Given the description of an element on the screen output the (x, y) to click on. 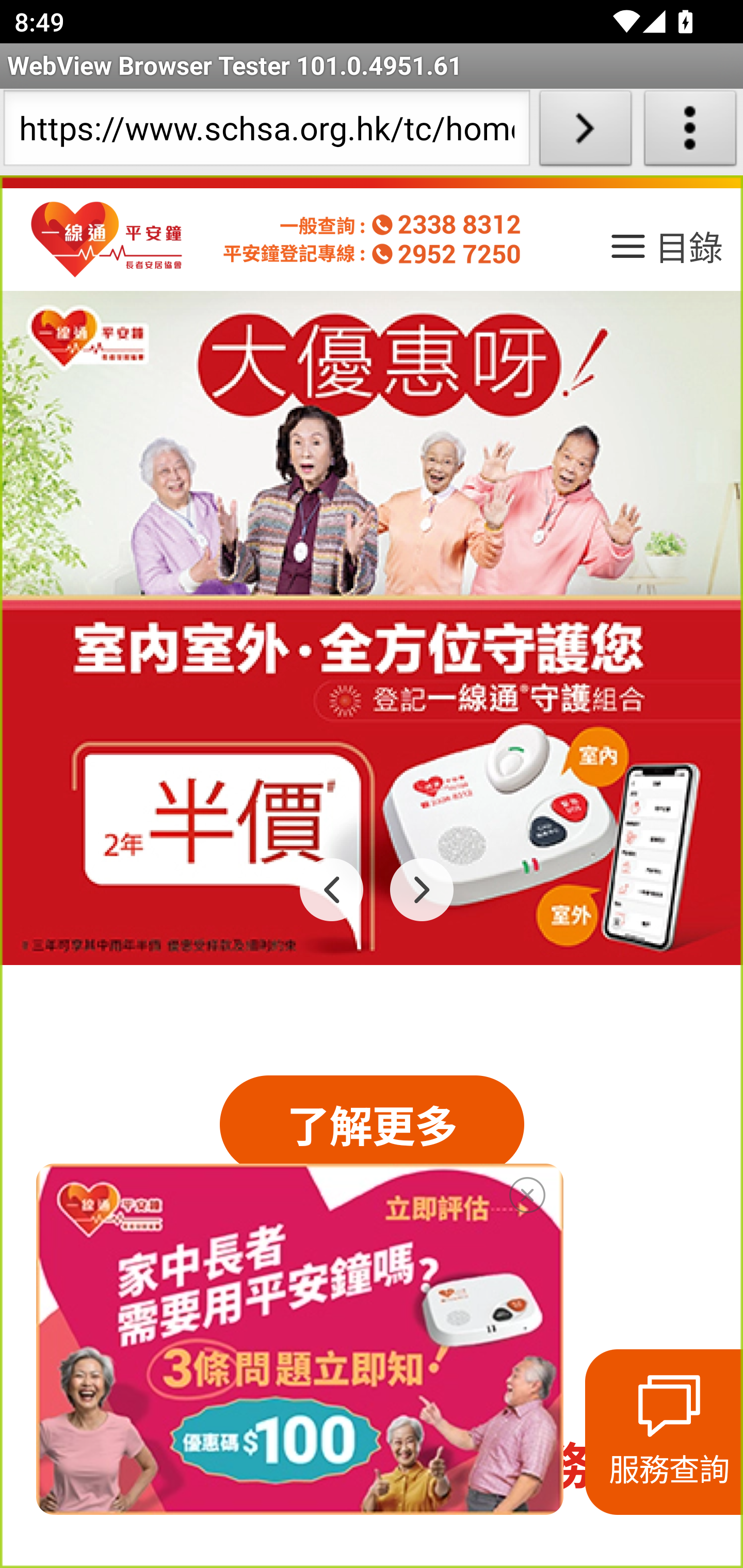
https://www.schsa.org.hk/tc/homepage (266, 132)
Load URL (585, 132)
About WebView (690, 132)
homepage (107, 240)
目錄 (665, 252)
Next slide Previous slide (371, 628)
Previous slide (331, 889)
Next slide (422, 889)
Dec Coupon Code Allsize Popup 300x200 Yescta (299, 1338)
site.close (526, 1191)
服務查詢 (664, 1432)
